Given the description of an element on the screen output the (x, y) to click on. 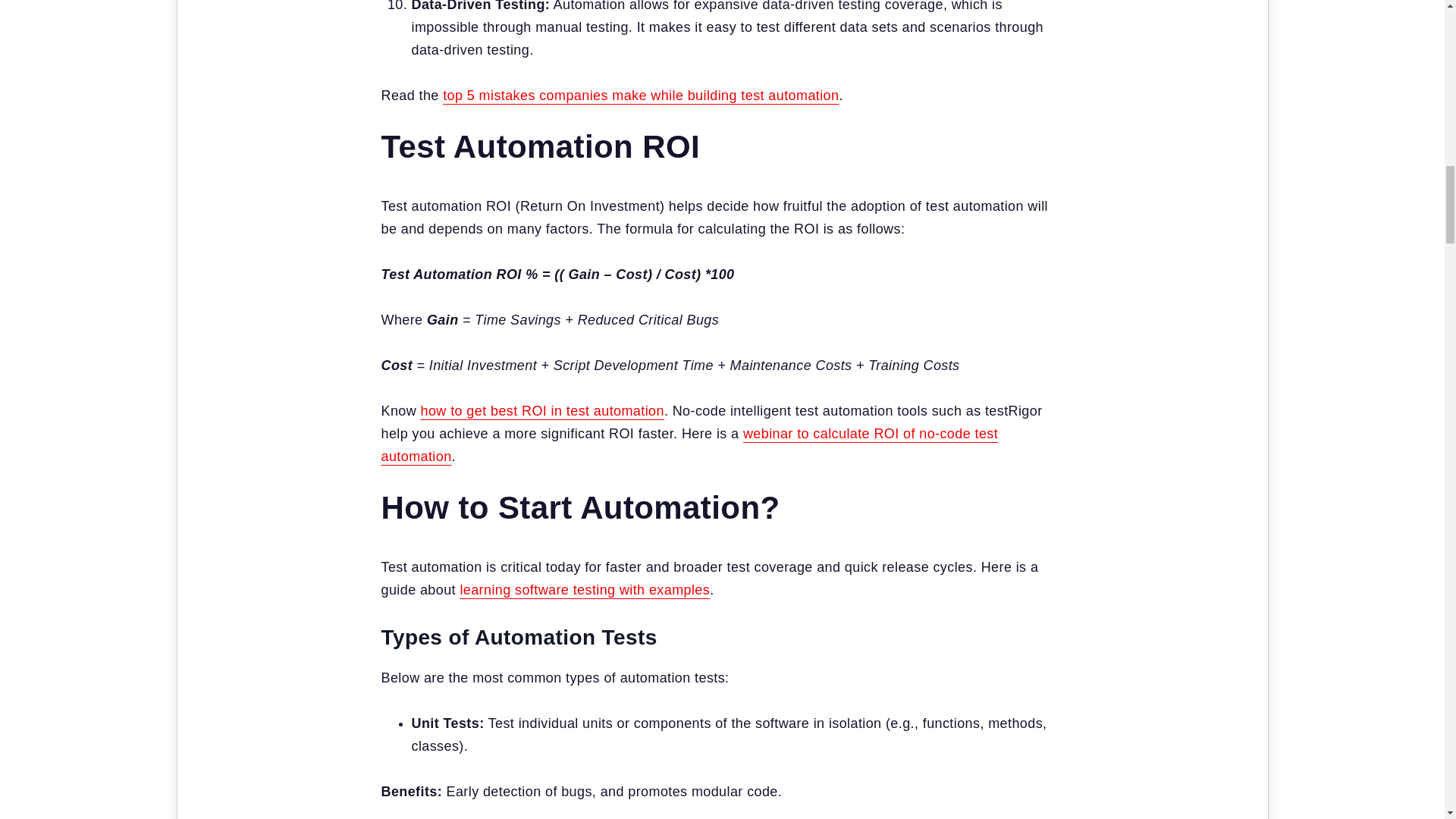
How to Get The Best ROI in Test Automation (541, 410)
Learning Software Application Testing: A Guide (585, 589)
How Do You Calculate the ROI of Codeless Test Automation? (688, 444)
Top 5 Mistakes Companies Make When Building Test Automation (640, 95)
